Given the description of an element on the screen output the (x, y) to click on. 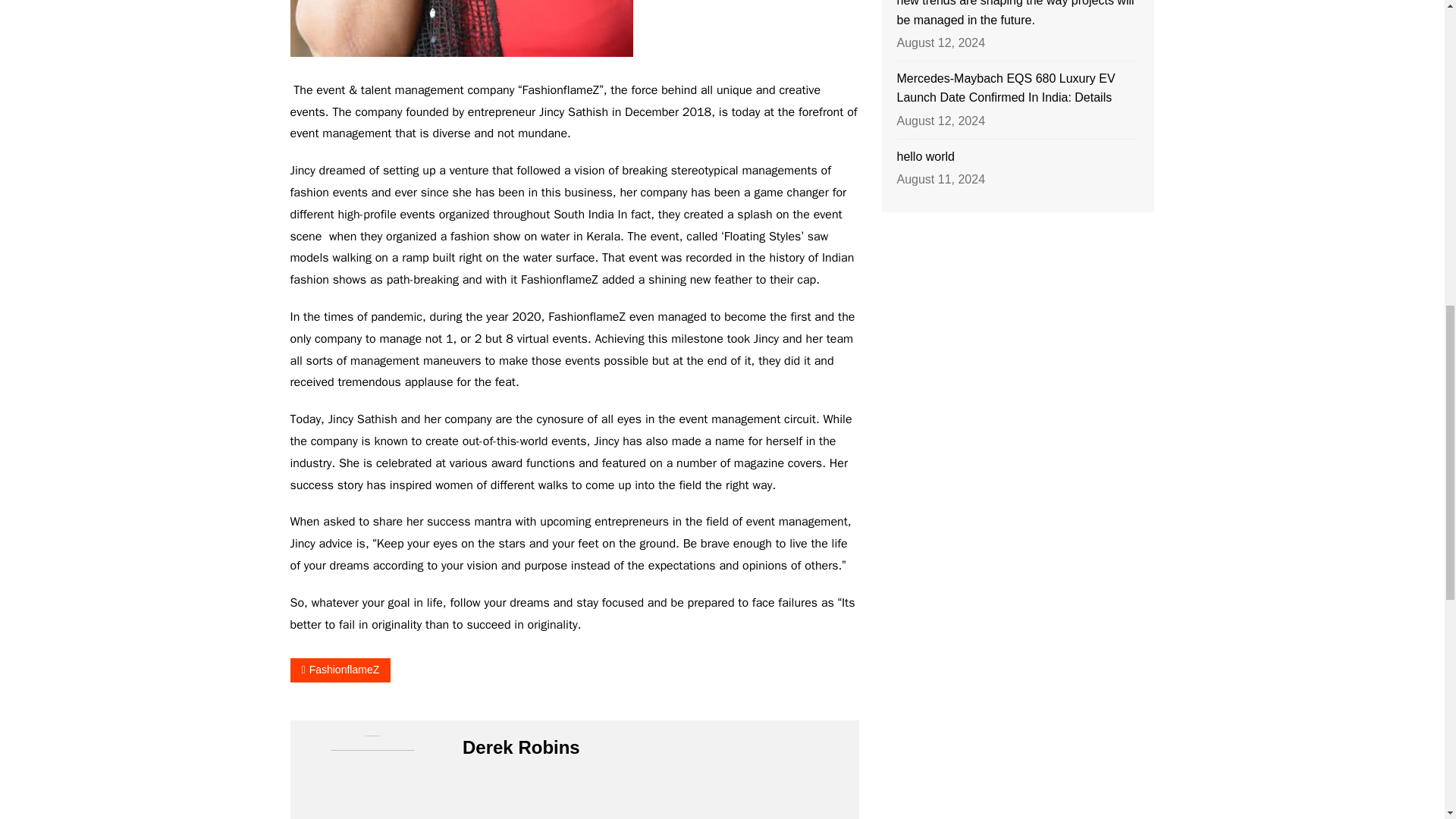
FashionflameZ (339, 669)
hello world (1017, 157)
